Given the description of an element on the screen output the (x, y) to click on. 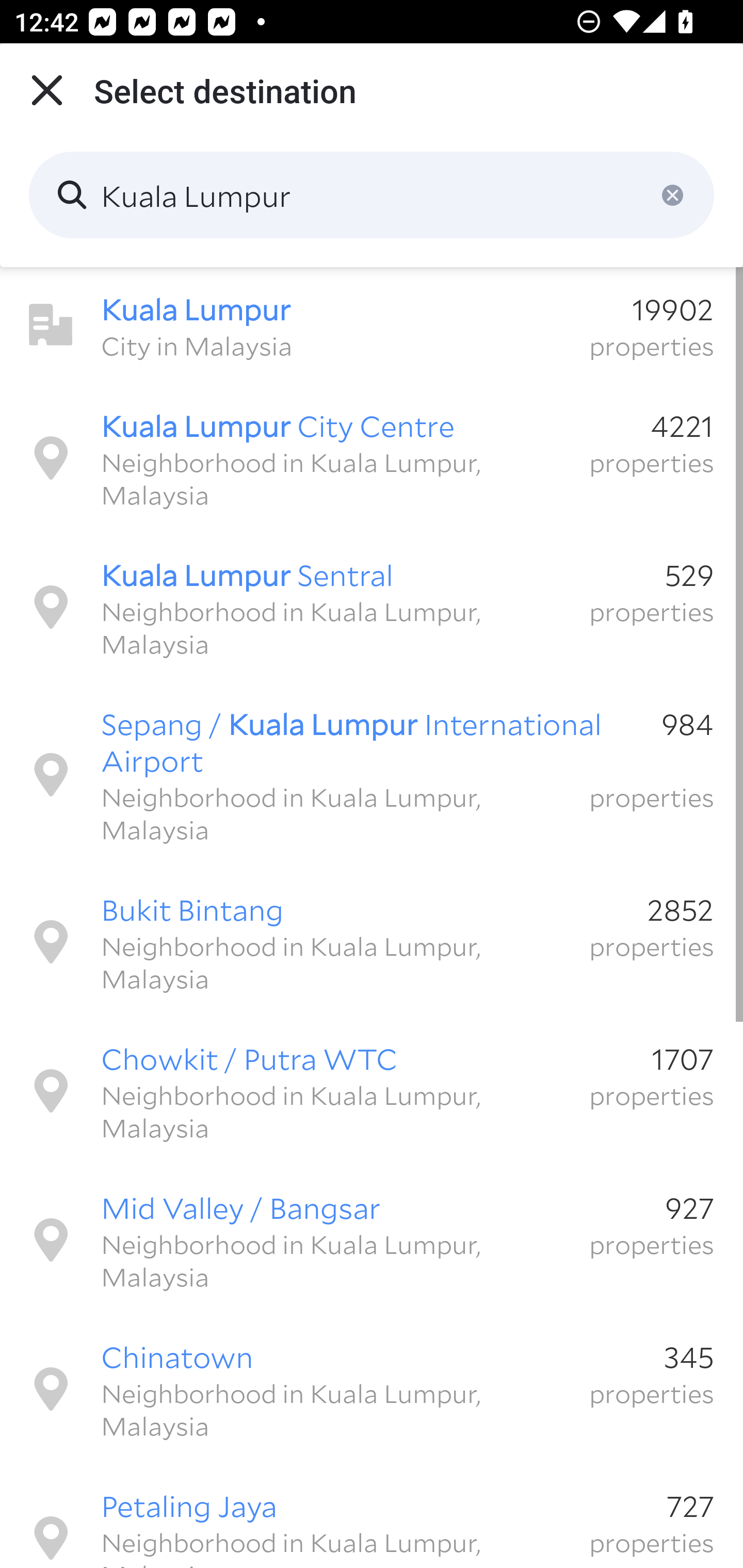
Kuala Lumpur (371, 195)
Kuala Lumpur 19902 City in Malaysia properties (371, 325)
